Given the description of an element on the screen output the (x, y) to click on. 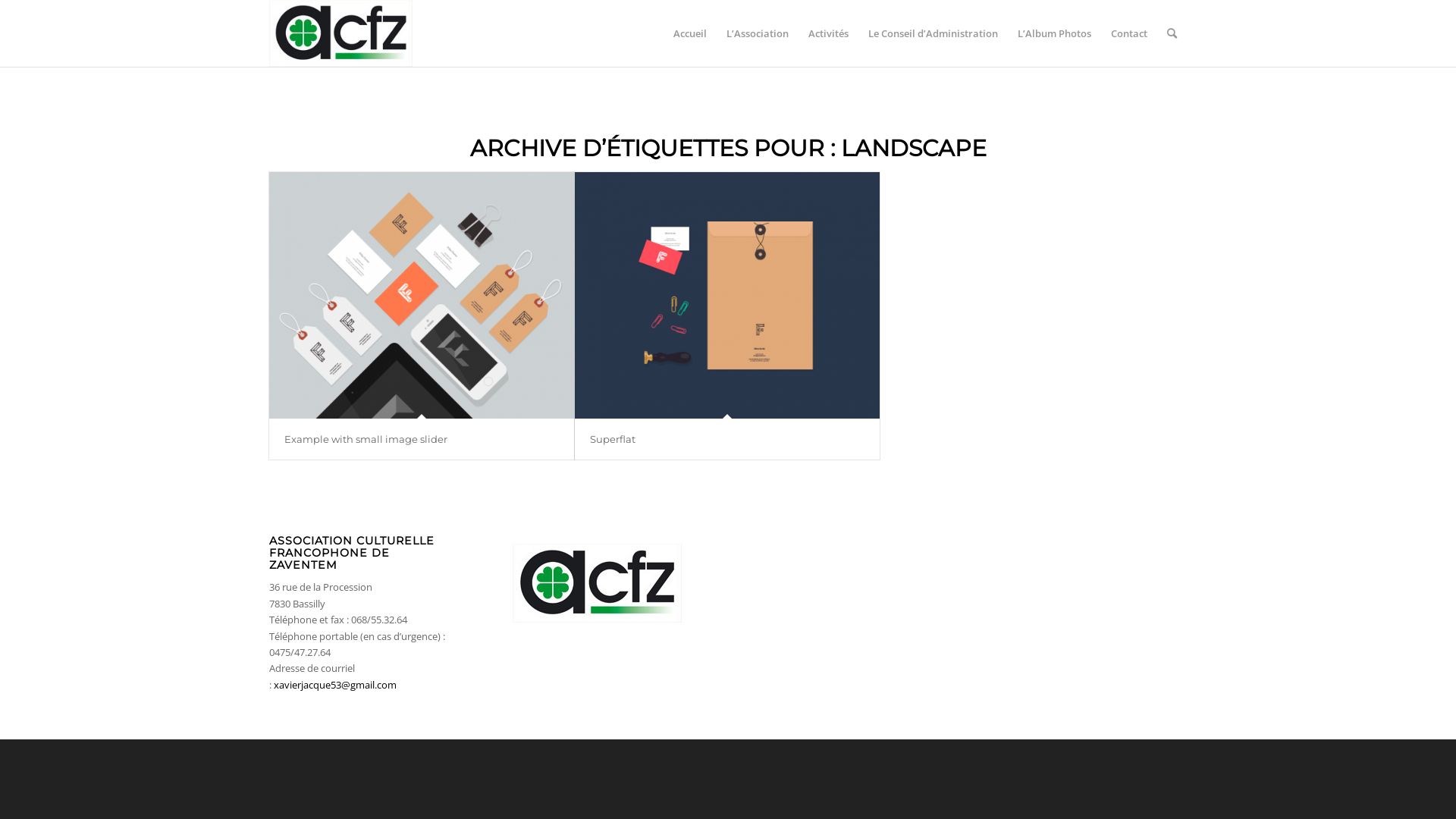
Example with small image slider Element type: text (365, 439)
Accueil Element type: text (689, 33)
xavierjacque53@gmail.com Element type: text (334, 684)
Contact Element type: text (1129, 33)
Example with small image slider Element type: hover (421, 295)
Superflat Element type: text (612, 439)
acfz-header Element type: hover (340, 33)
Superflat Element type: hover (726, 295)
